Given the description of an element on the screen output the (x, y) to click on. 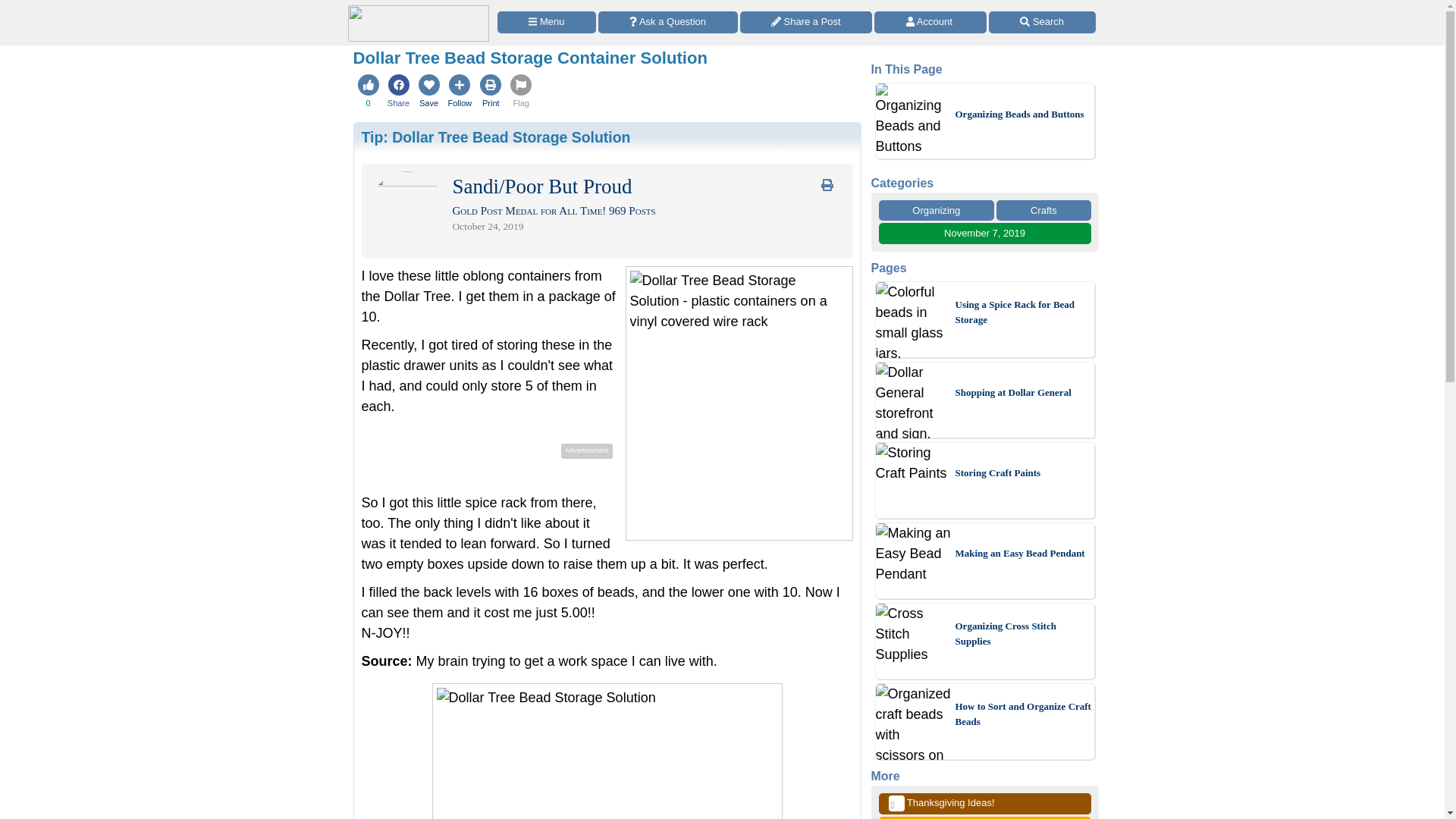
Tip: Dollar Tree Bead Storage Solution (495, 136)
 Ask a Question (668, 22)
 Menu (546, 22)
